Given the description of an element on the screen output the (x, y) to click on. 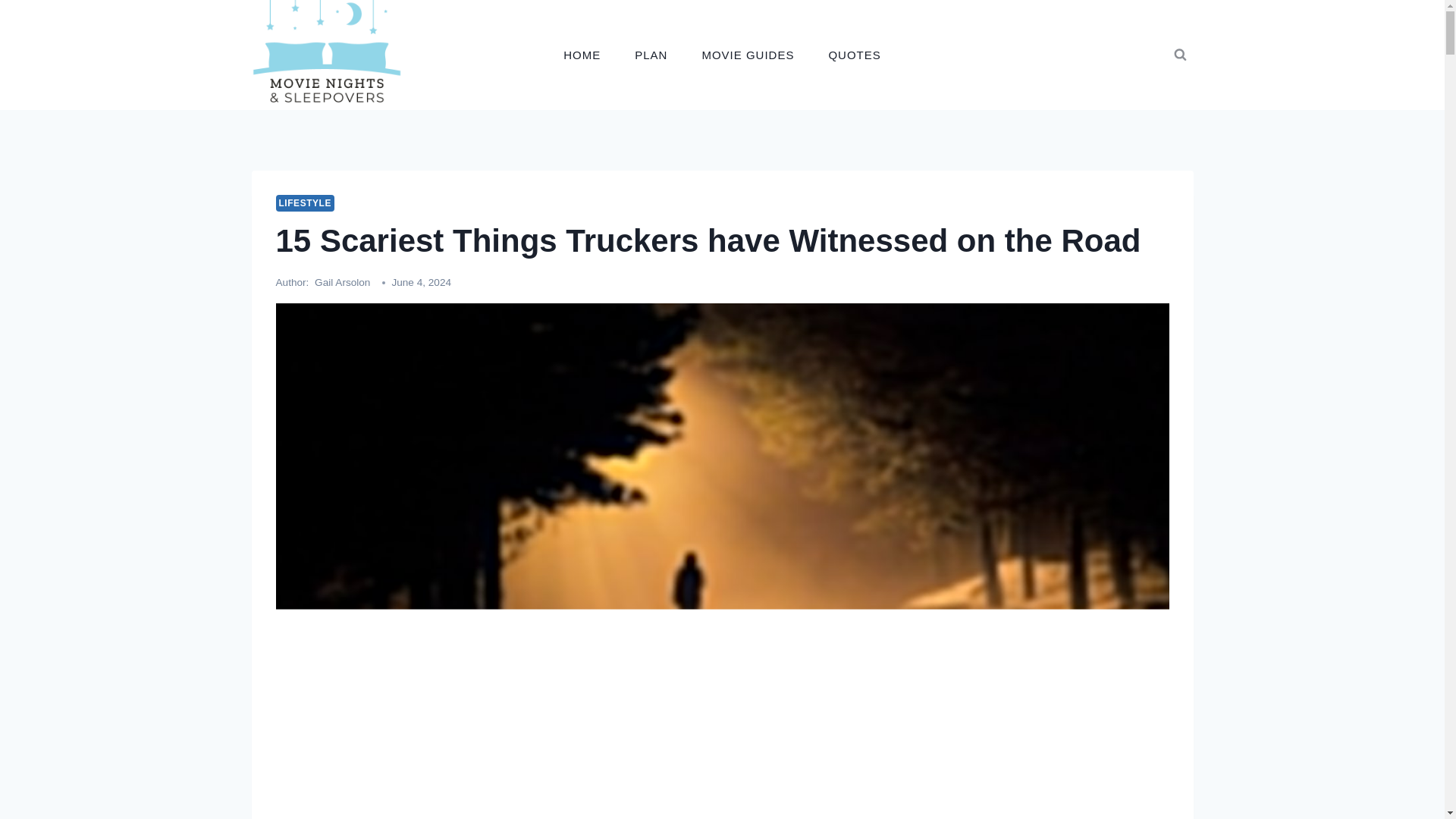
QUOTES (854, 55)
PLAN (650, 55)
HOME (582, 55)
LIFESTYLE (305, 202)
Gail Arsolon (341, 282)
MOVIE GUIDES (747, 55)
